Given the description of an element on the screen output the (x, y) to click on. 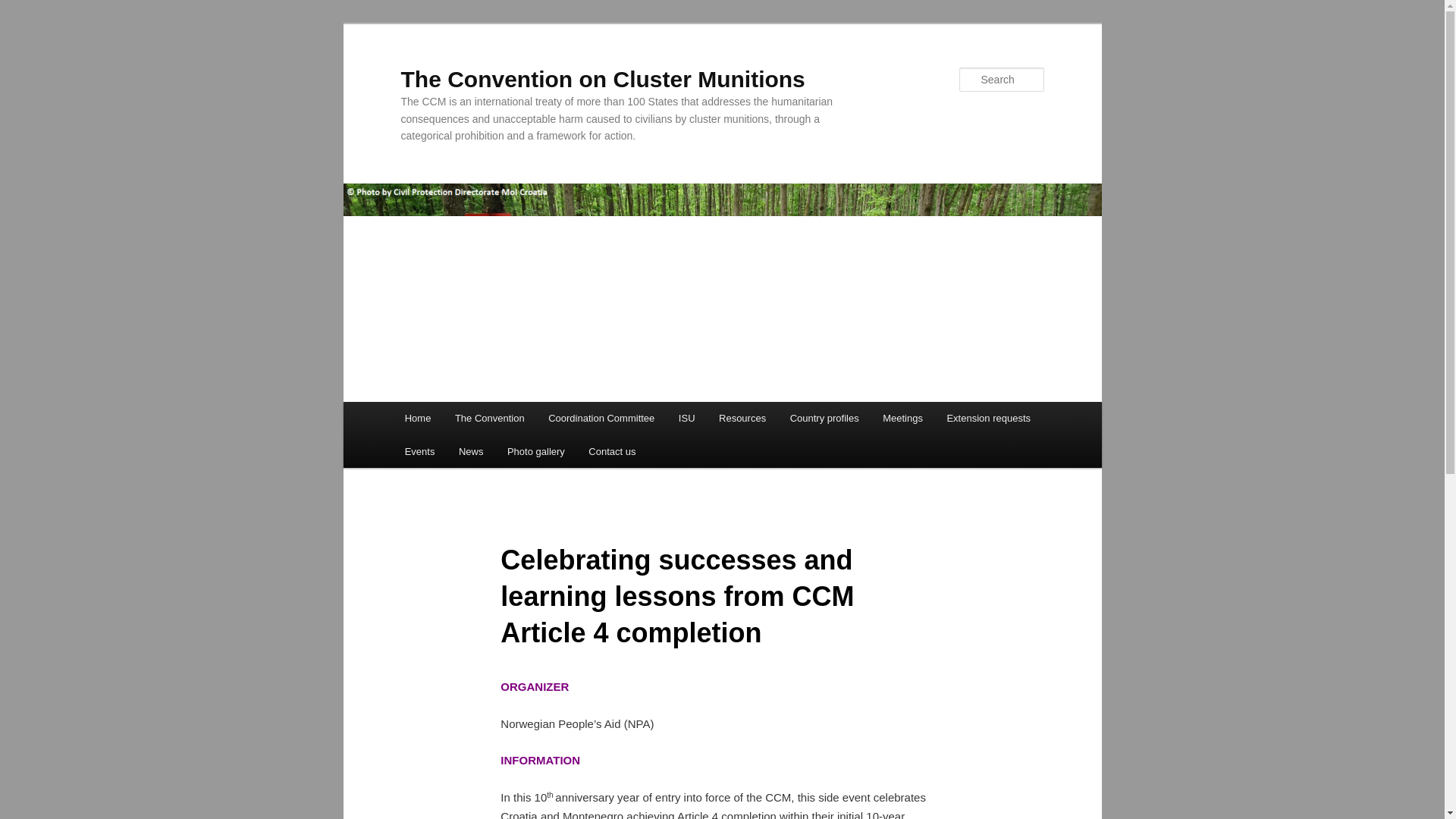
Home (417, 418)
The Convention on Cluster Munitions (602, 78)
The Convention (488, 418)
Search (24, 8)
Home (417, 418)
Coordination Committee (600, 418)
